Given the description of an element on the screen output the (x, y) to click on. 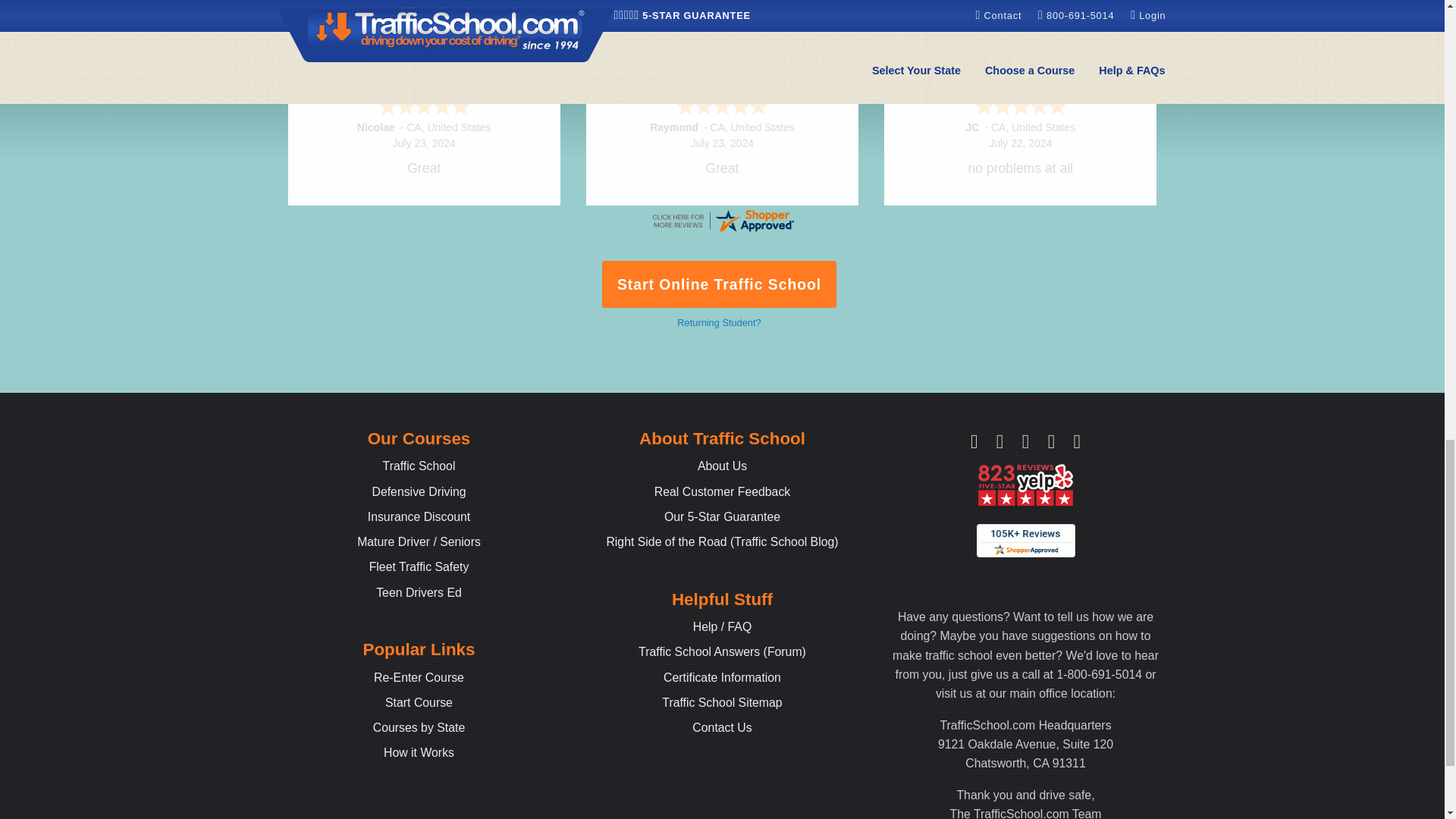
Drivers Ed Online (418, 592)
Start Online Traffic School (719, 284)
Traffic School Student Login (419, 676)
How it Works (419, 752)
Traffic School Online (418, 465)
Mature Driving Course for Seniors (418, 541)
Traffic School (418, 465)
About Us (721, 465)
Online Defensive Driving (418, 491)
Insurance Discount (419, 516)
Fleet Safety Online (418, 566)
Traffic School Registration (418, 702)
Teen Drivers Ed (418, 592)
Start Course (418, 702)
Auto Insurance Discount Course (419, 516)
